Given the description of an element on the screen output the (x, y) to click on. 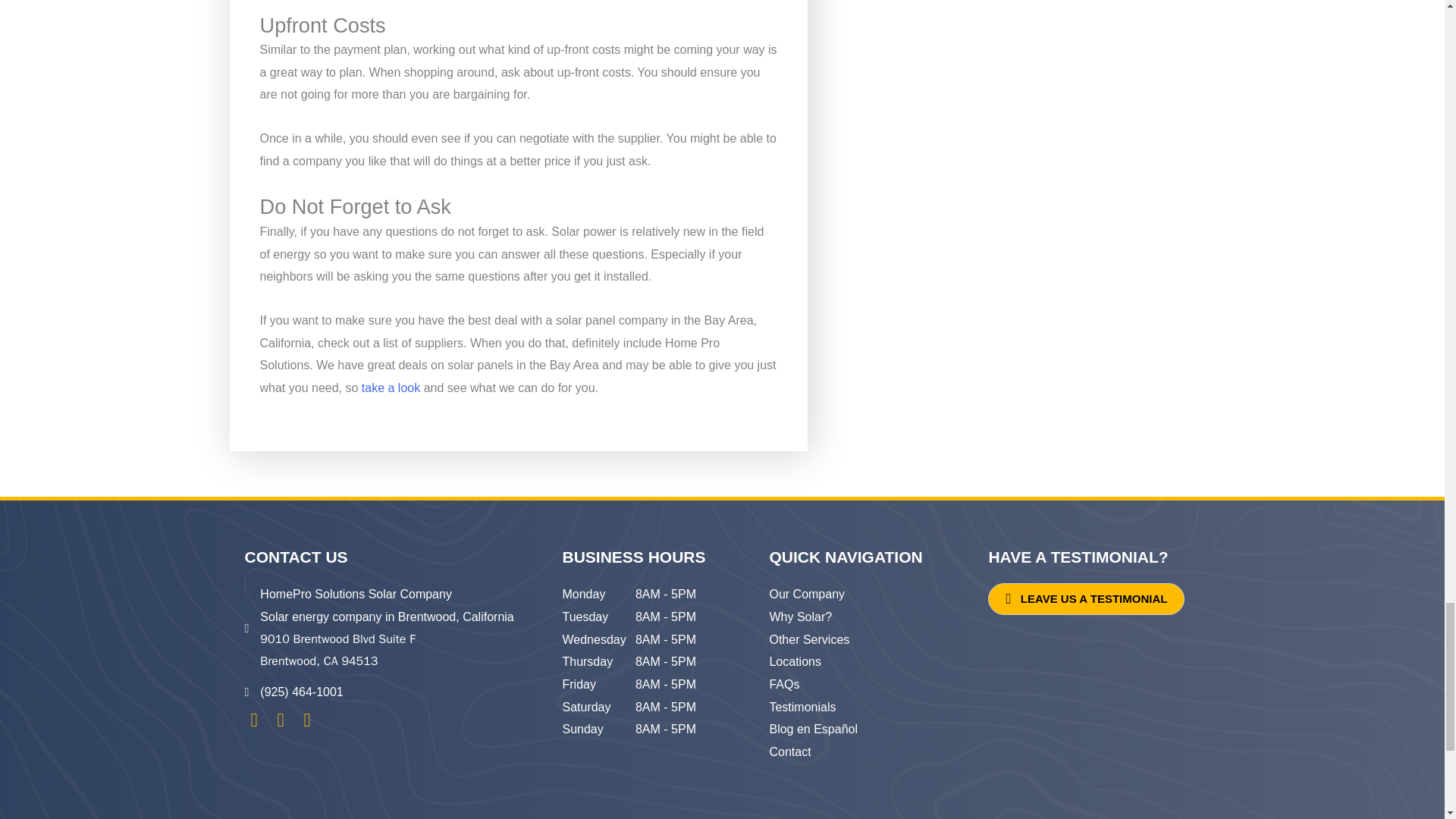
take a look (390, 387)
Our Company (806, 594)
